Given the description of an element on the screen output the (x, y) to click on. 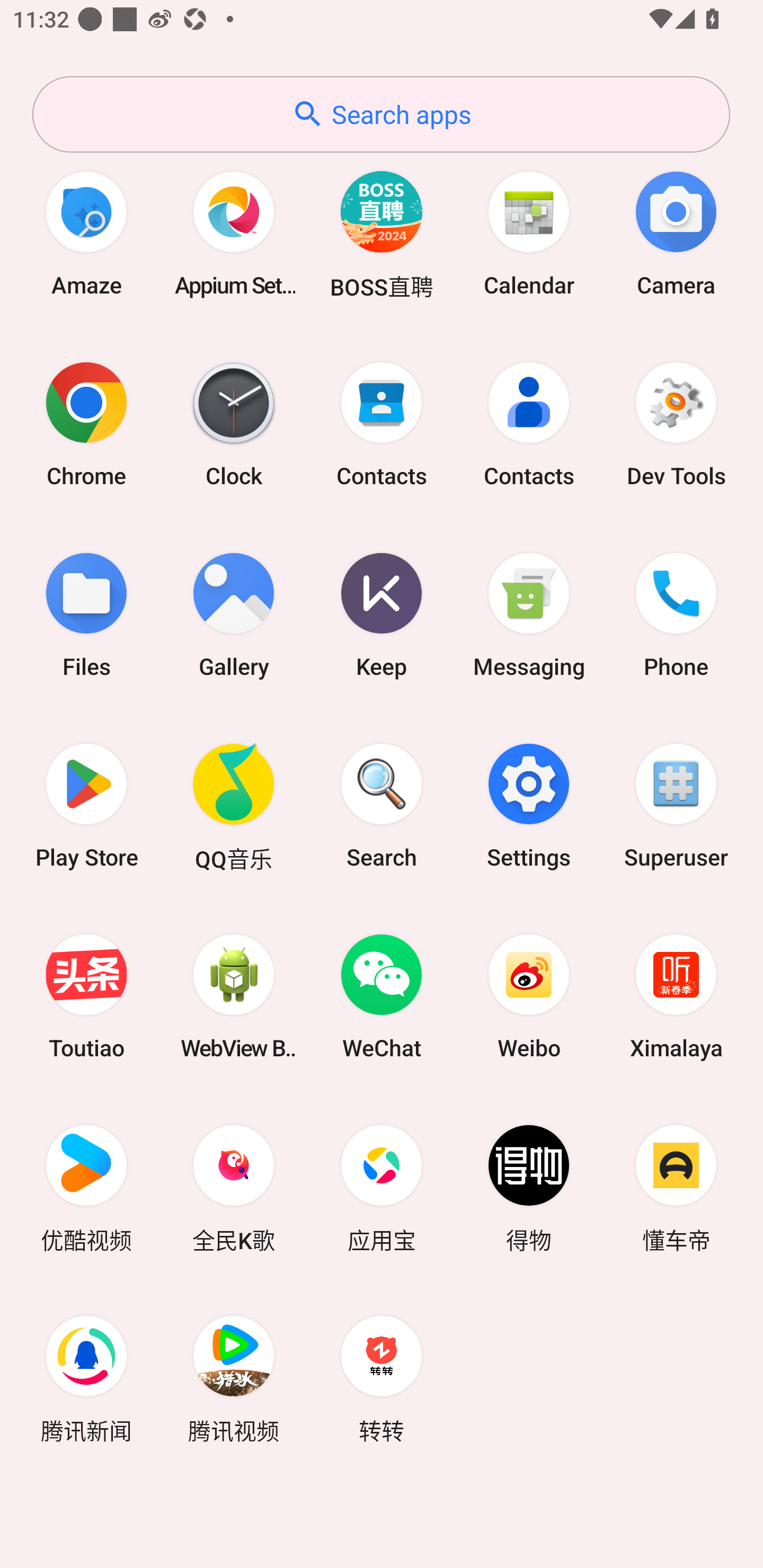
  Search apps (381, 114)
Amaze (86, 233)
Appium Settings (233, 233)
BOSS直聘 (381, 233)
Calendar (528, 233)
Camera (676, 233)
Chrome (86, 424)
Clock (233, 424)
Contacts (381, 424)
Contacts (528, 424)
Dev Tools (676, 424)
Files (86, 614)
Gallery (233, 614)
Keep (381, 614)
Messaging (528, 614)
Phone (676, 614)
Play Store (86, 805)
QQ音乐 (233, 805)
Search (381, 805)
Settings (528, 805)
Superuser (676, 805)
Toutiao (86, 996)
WebView Browser Tester (233, 996)
WeChat (381, 996)
Weibo (528, 996)
Ximalaya (676, 996)
优酷视频 (86, 1186)
全民K歌 (233, 1186)
应用宝 (381, 1186)
得物 (528, 1186)
懂车帝 (676, 1186)
腾讯新闻 (86, 1377)
腾讯视频 (233, 1377)
转转 (381, 1377)
